Given the description of an element on the screen output the (x, y) to click on. 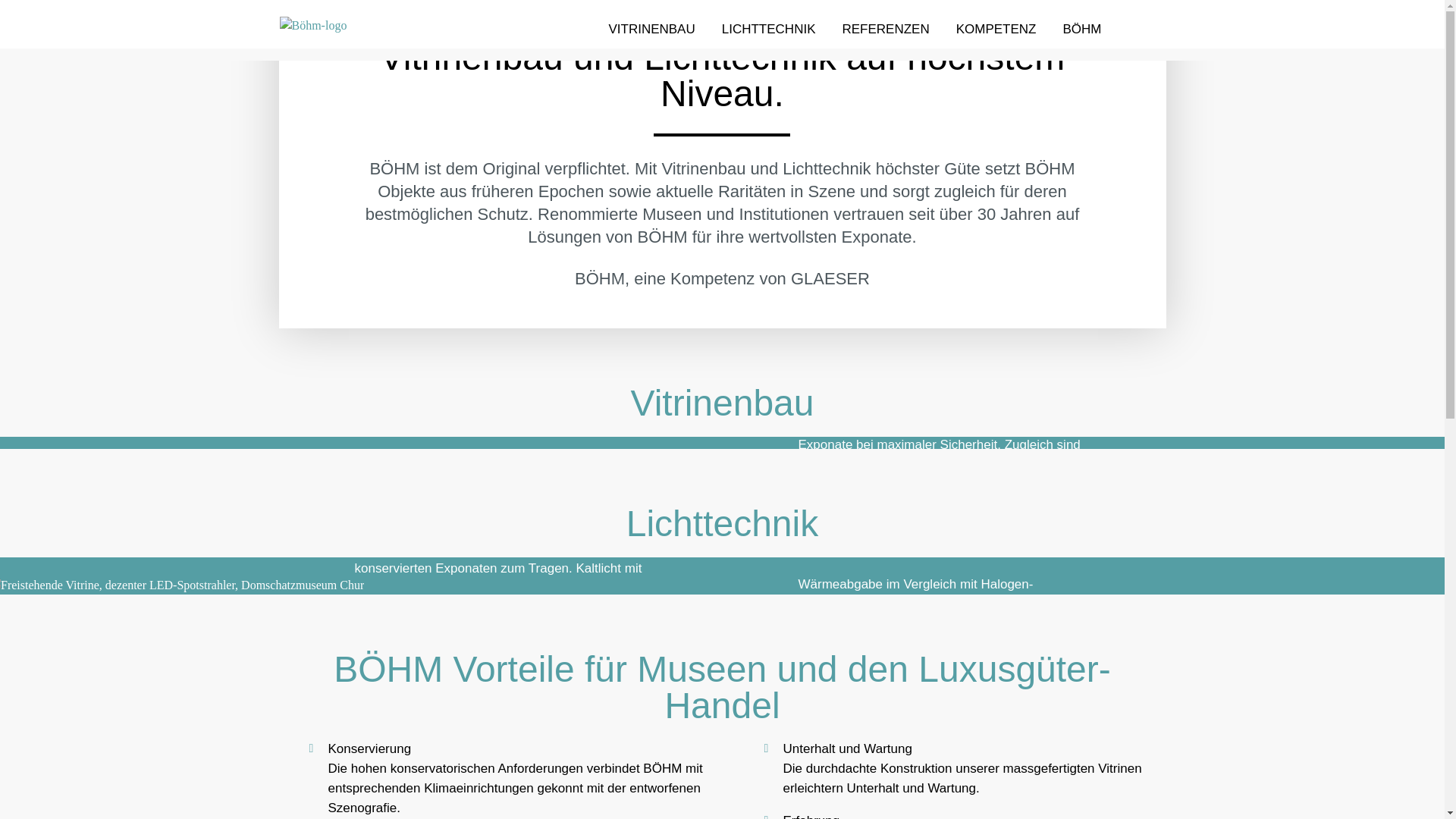
KOMPETENZ Element type: text (996, 29)
VITRINENBAU Element type: text (651, 29)
REFERENZEN Element type: text (884, 29)
LICHTTECHNIK Element type: text (768, 29)
